Given the description of an element on the screen output the (x, y) to click on. 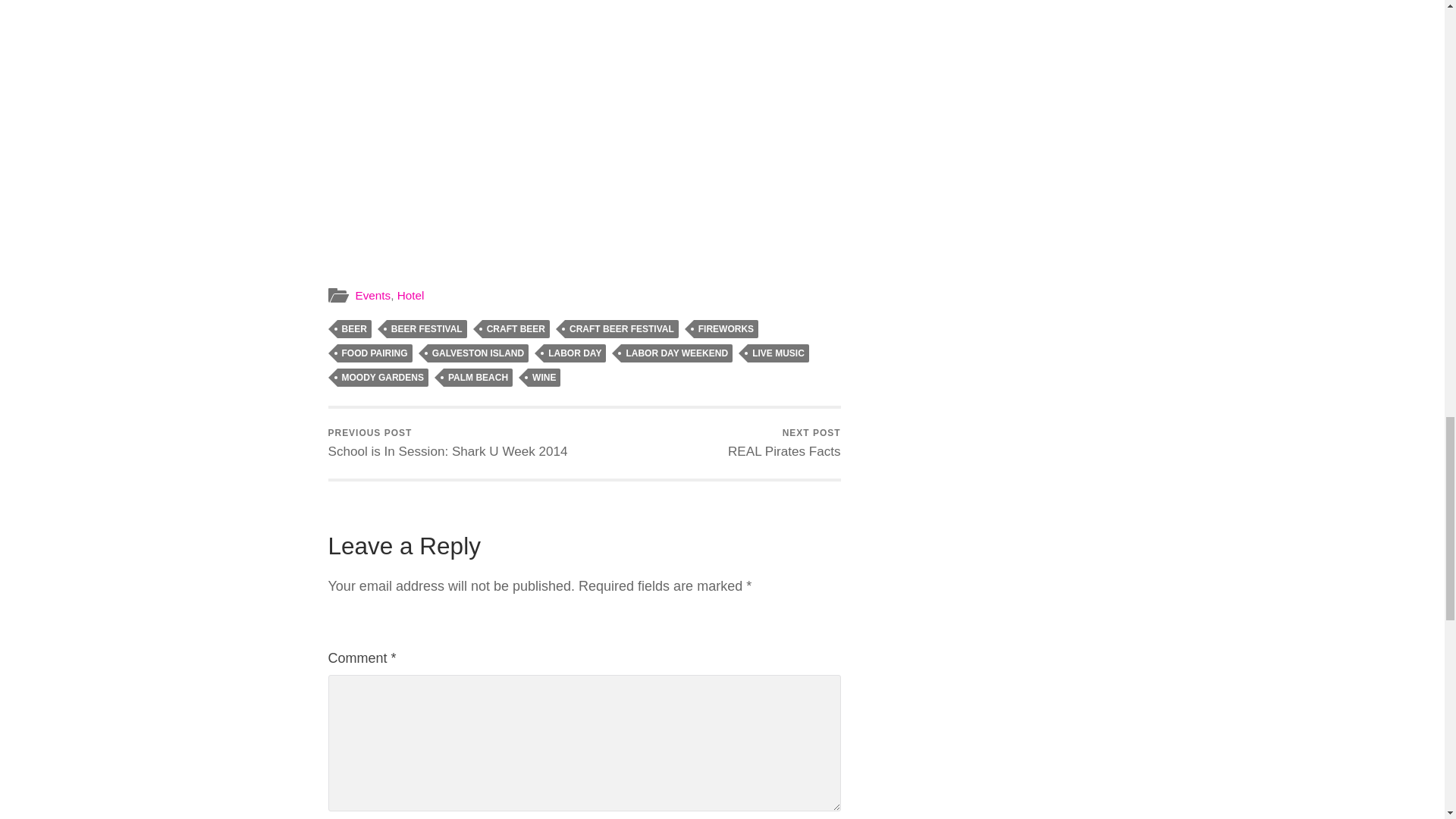
FOOD PAIRING (374, 352)
PALM BEACH (478, 377)
BEER (353, 329)
LABOR DAY WEEKEND (784, 442)
BEER FESTIVAL (676, 352)
FIREWORKS (427, 329)
CRAFT BEER (726, 329)
CRAFT BEER FESTIVAL (515, 329)
